Given the description of an element on the screen output the (x, y) to click on. 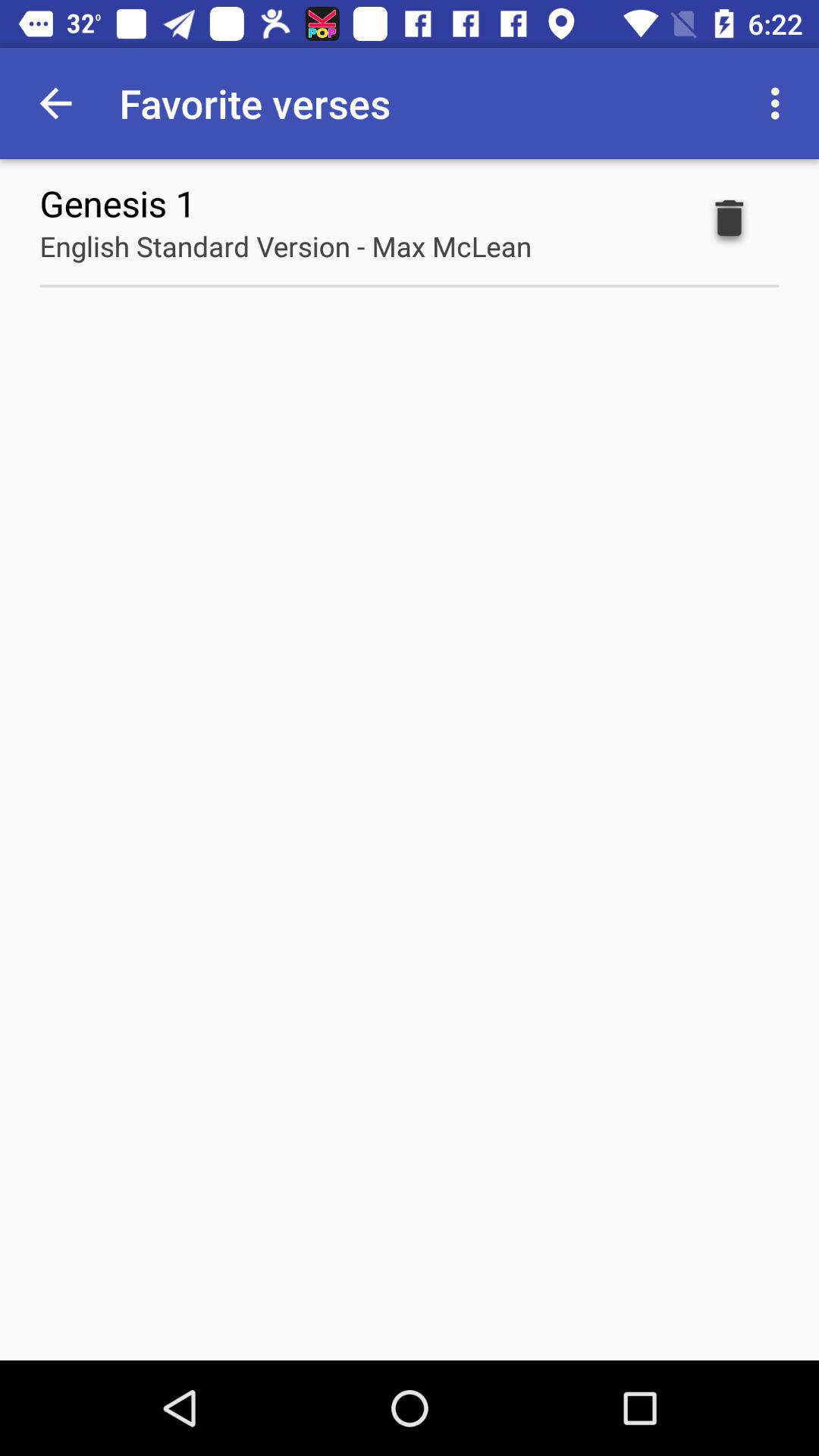
click the icon to the right of the favorite verses (779, 103)
